Given the description of an element on the screen output the (x, y) to click on. 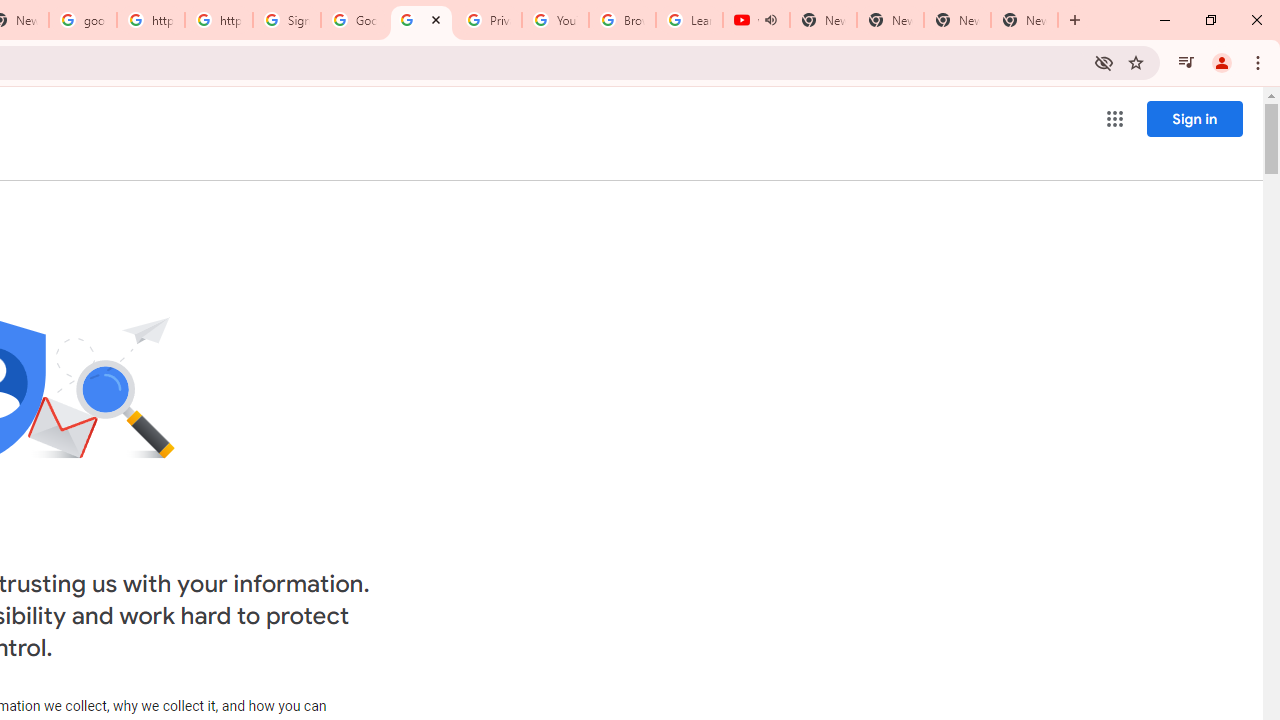
YouTube (555, 20)
https://scholar.google.com/ (150, 20)
Sign in - Google Accounts (287, 20)
